Given the description of an element on the screen output the (x, y) to click on. 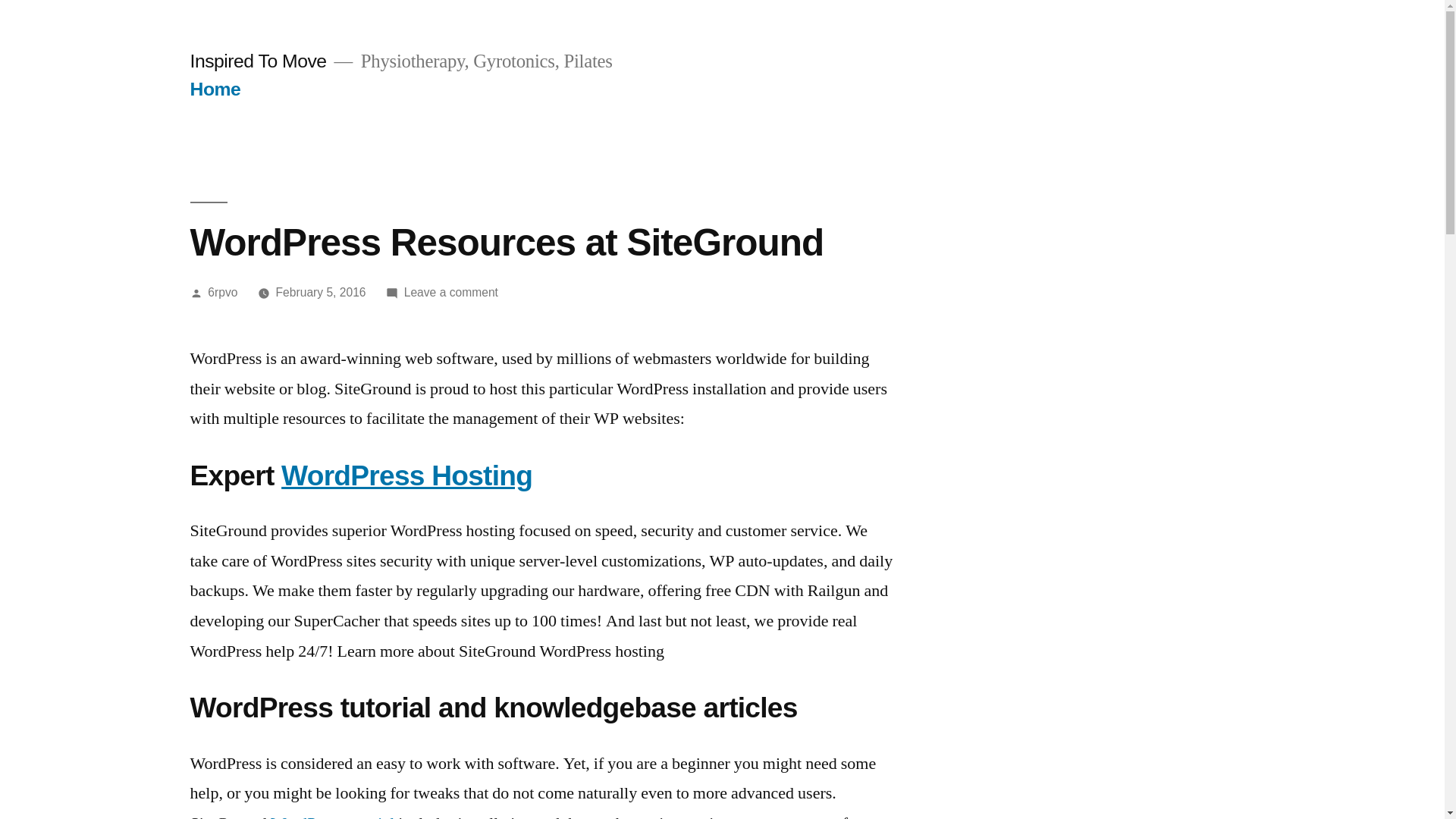
6rpvo Element type: text (222, 291)
February 5, 2016 Element type: text (321, 291)
Home Element type: text (214, 88)
Leave a comment
on WordPress Resources at SiteGround Element type: text (451, 291)
WordPress Hosting Element type: text (406, 475)
Inspired To Move Element type: text (257, 60)
